Given the description of an element on the screen output the (x, y) to click on. 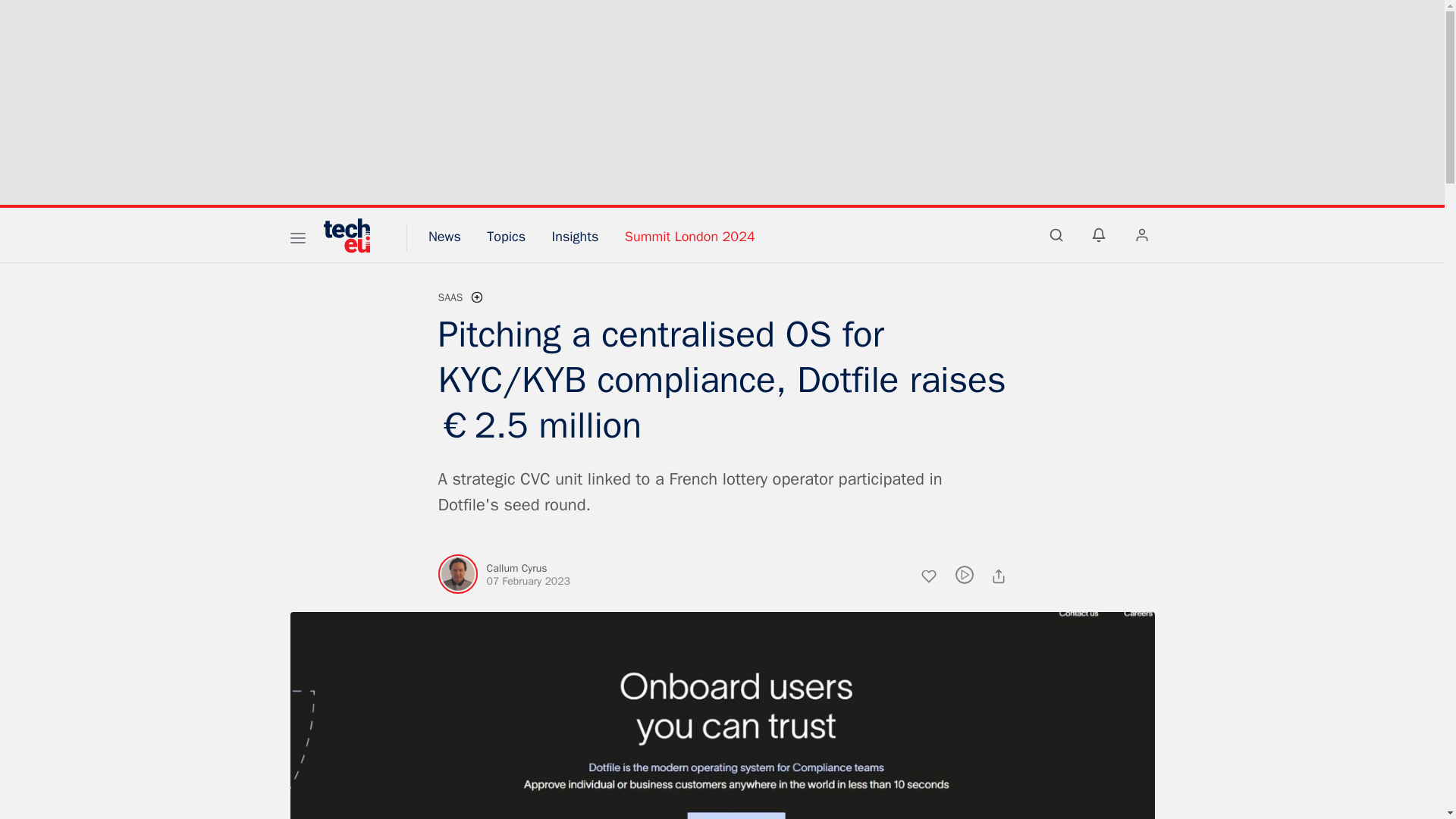
SaaS (450, 297)
Like (936, 578)
Topics (505, 236)
Insights (574, 236)
Listen this article (964, 574)
News (444, 236)
Summit London 2024 (689, 236)
